Given the description of an element on the screen output the (x, y) to click on. 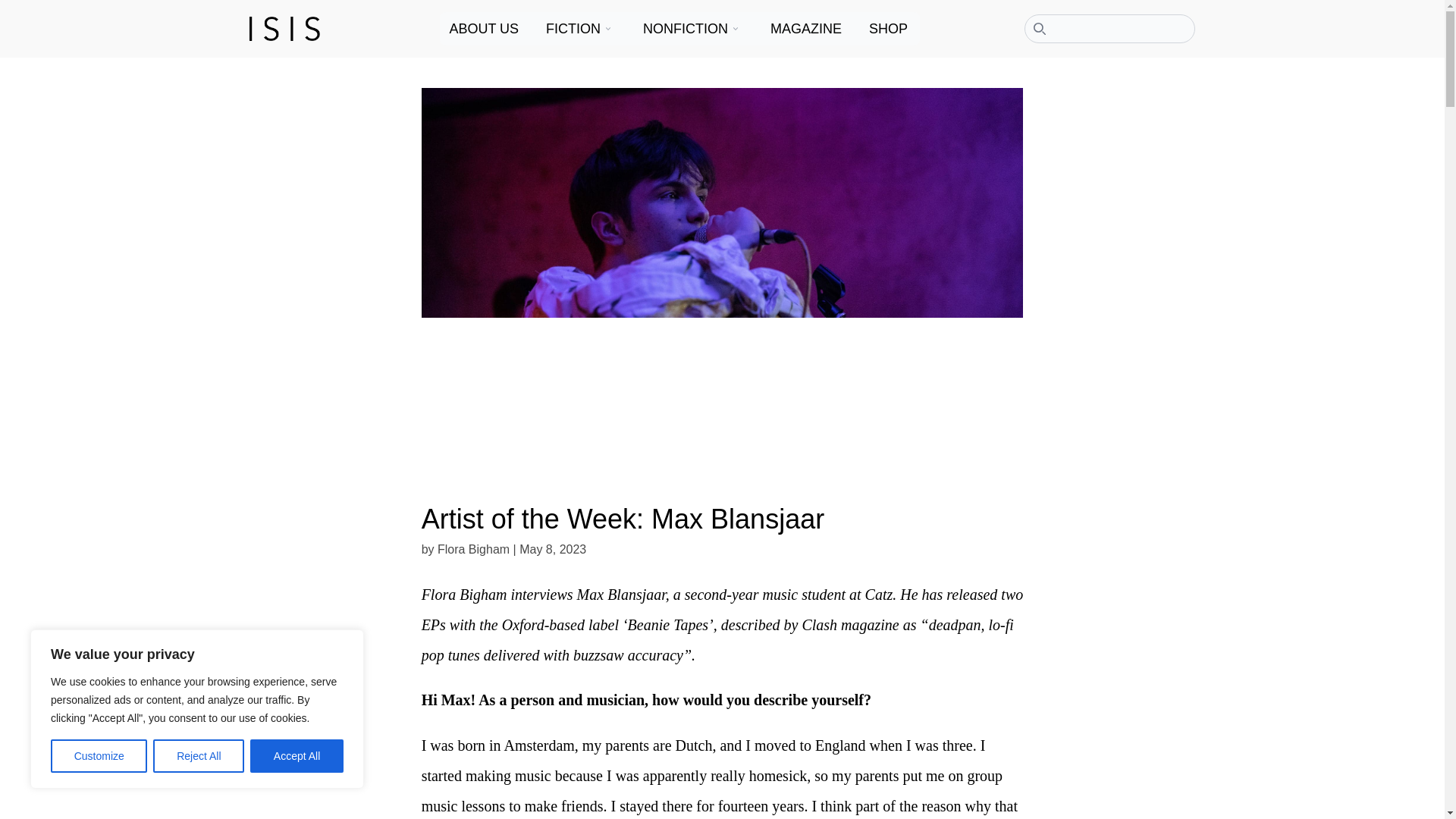
Customize (98, 756)
Reject All (198, 756)
NONFICTION (687, 28)
SHOP (890, 28)
MAGAZINE (807, 28)
ABOUT US (485, 28)
FICTION (576, 28)
Accept All (296, 756)
